Given the description of an element on the screen output the (x, y) to click on. 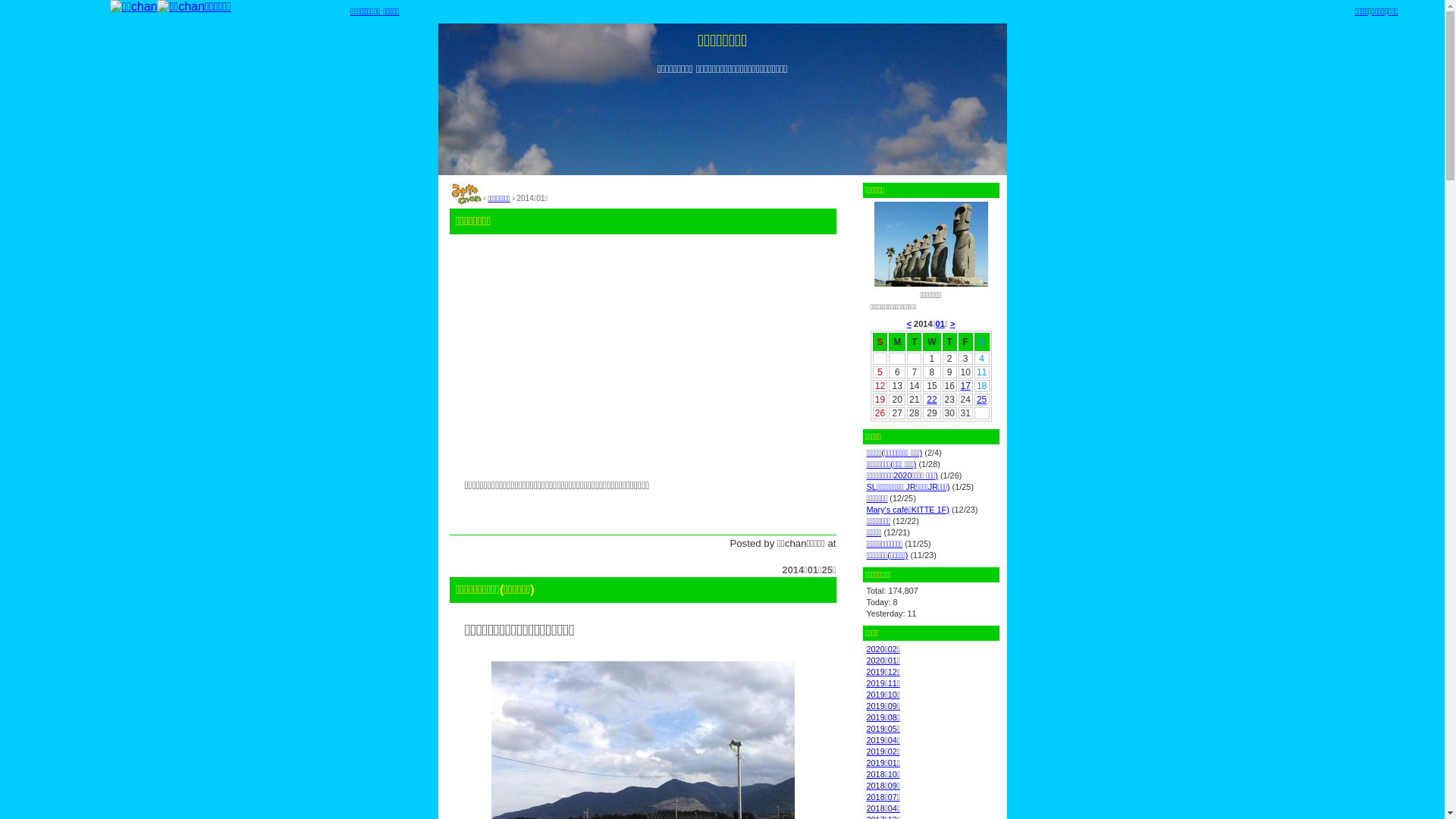
01 Element type: text (939, 323)
22 Element type: text (931, 399)
17 Element type: text (964, 385)
< Element type: text (908, 323)
> Element type: text (952, 323)
Advertisement Element type: hover (642, 355)
25 Element type: text (981, 399)
